Given the description of an element on the screen output the (x, y) to click on. 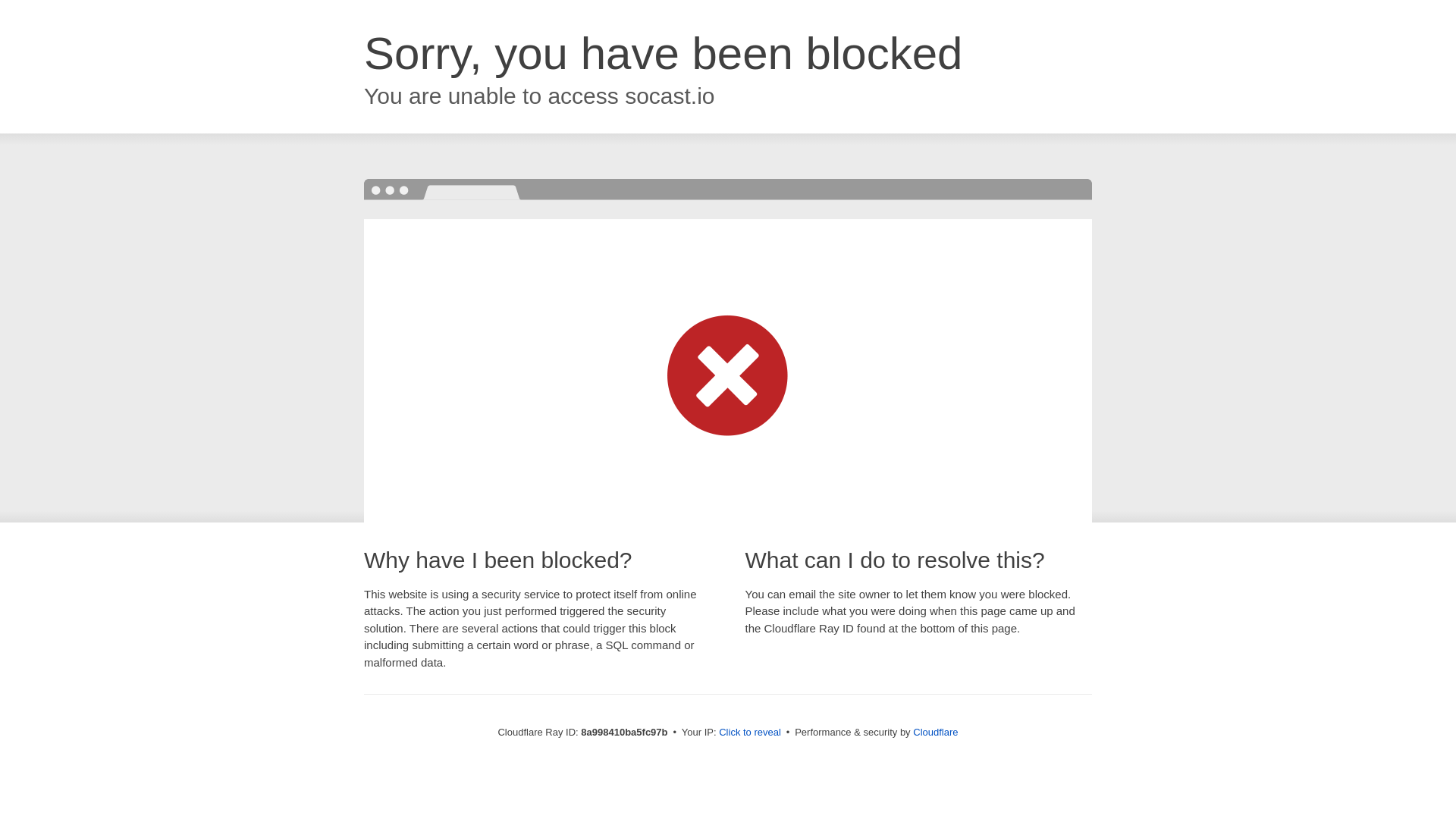
Click to reveal (749, 732)
Cloudflare (935, 731)
